Given the description of an element on the screen output the (x, y) to click on. 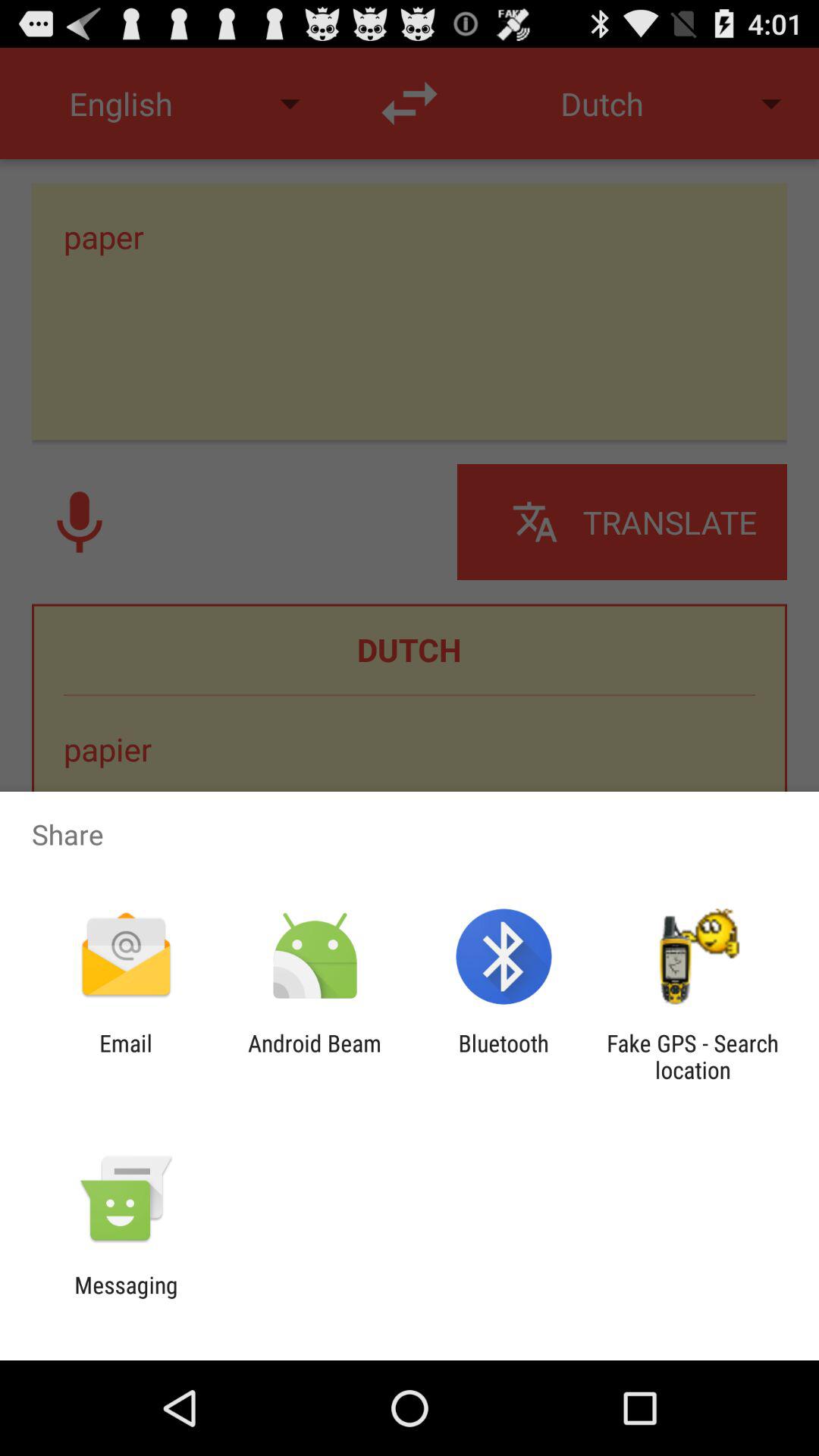
tap icon to the right of the bluetooth item (692, 1056)
